Given the description of an element on the screen output the (x, y) to click on. 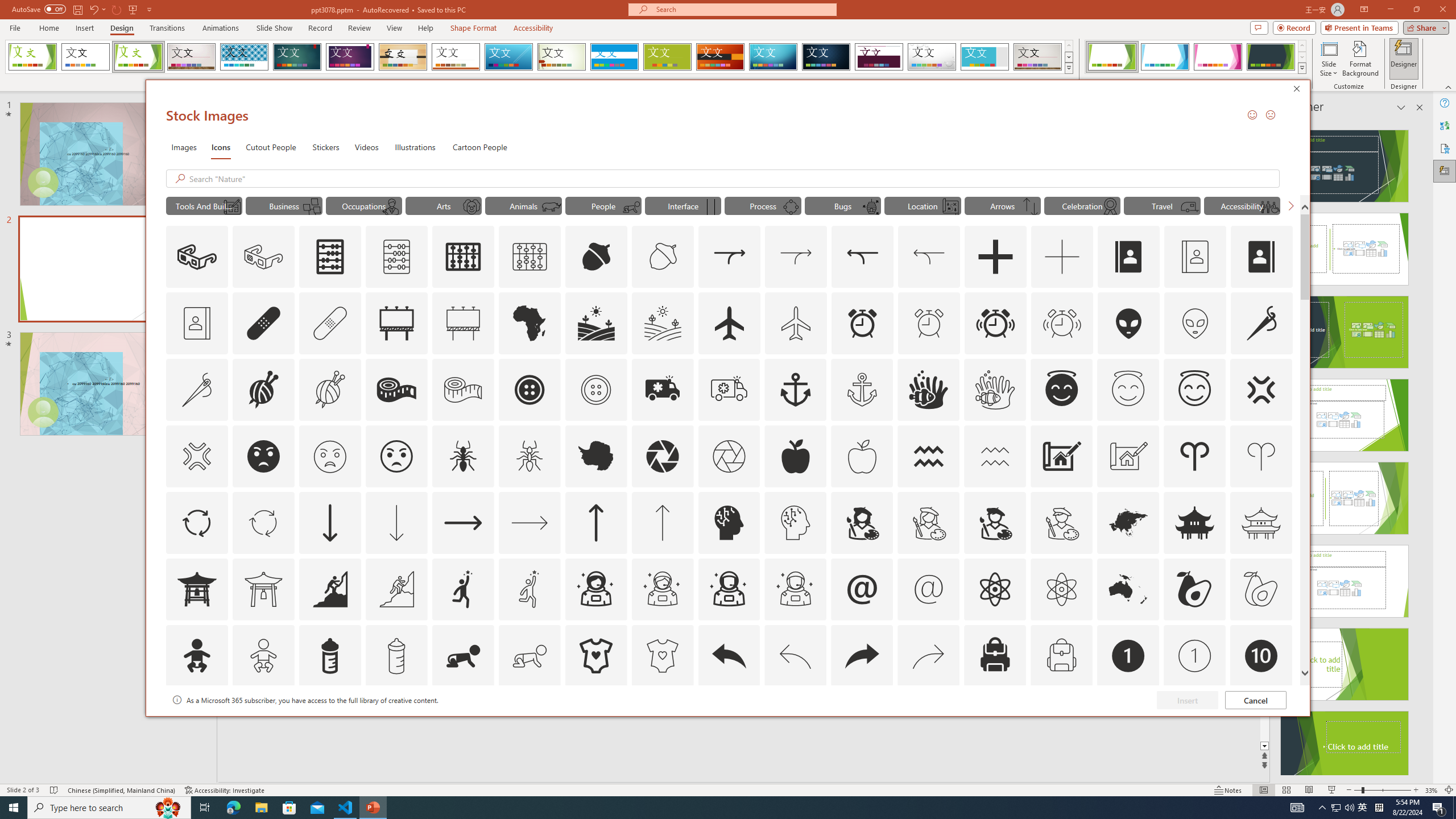
AutomationID: Icons_Clown_M (471, 206)
"Arts" Icons. (443, 205)
"Arrows" Icons. (1002, 205)
Droplet (931, 56)
AutomationID: Icons_AstronautMale_M (795, 588)
AutomationID: Icons_ArtificialIntelligence_M (795, 522)
Microsoft Edge (233, 807)
Circuit (772, 56)
"People" Icons. (603, 205)
